Given the description of an element on the screen output the (x, y) to click on. 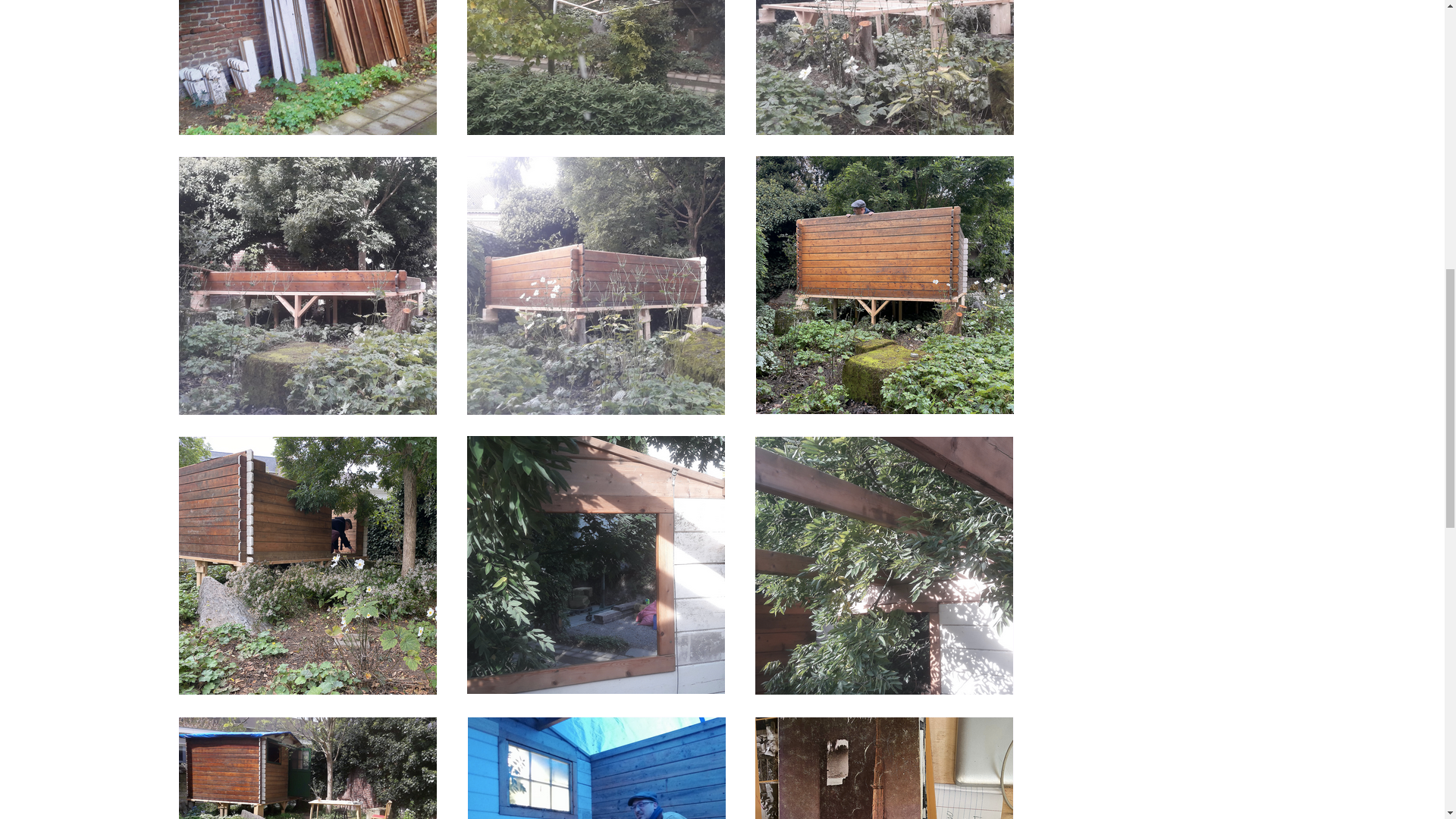
Scroll terug naar boven (1406, 720)
